Given the description of an element on the screen output the (x, y) to click on. 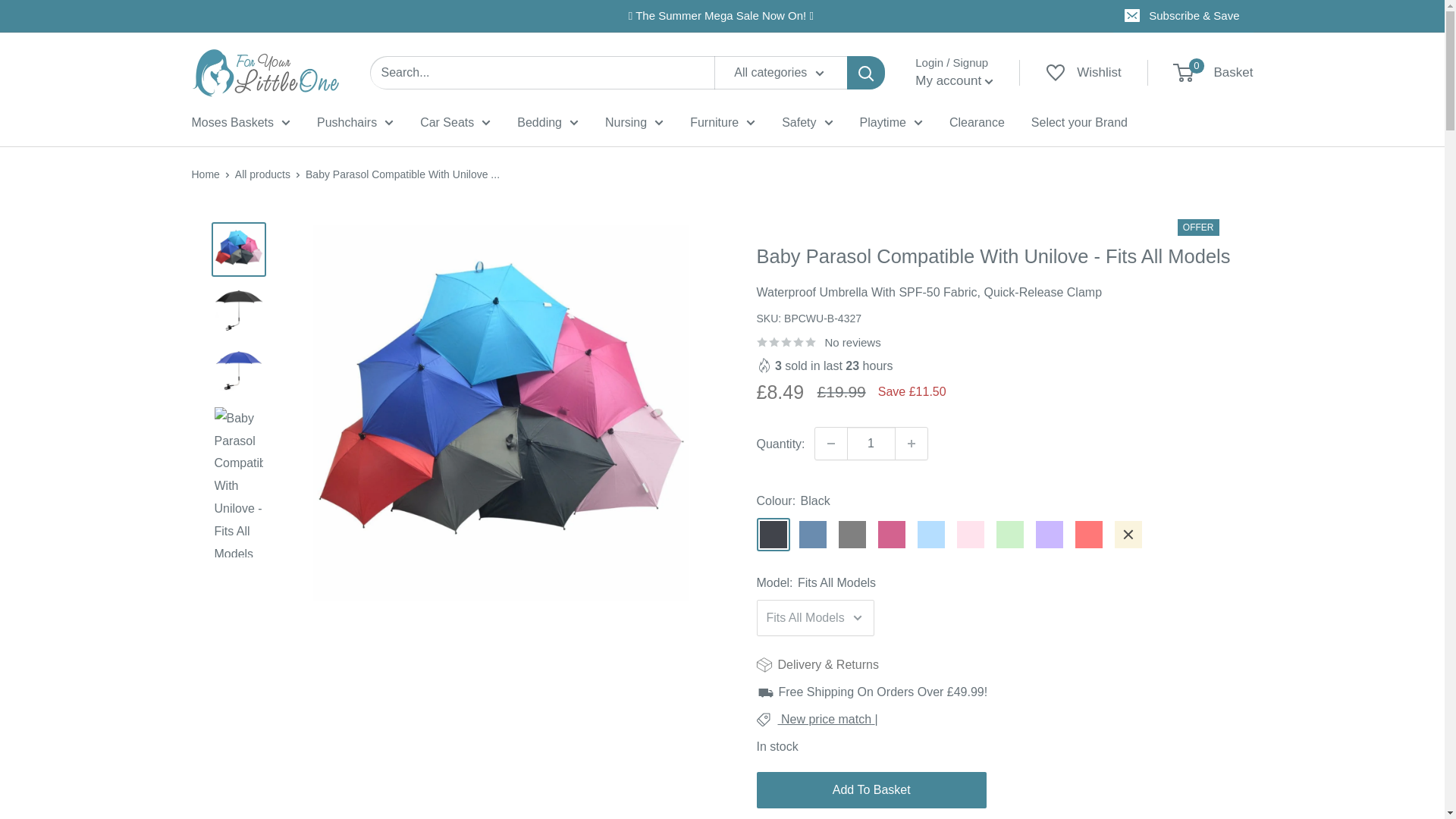
Light Blue (930, 533)
Grey (852, 533)
Decrease quantity by 1 (831, 443)
Blue (813, 533)
Sand (1128, 533)
Increase quantity by 1 (911, 443)
Lime (1009, 533)
Purple (1048, 533)
1 (871, 443)
Black (773, 533)
